Given the description of an element on the screen output the (x, y) to click on. 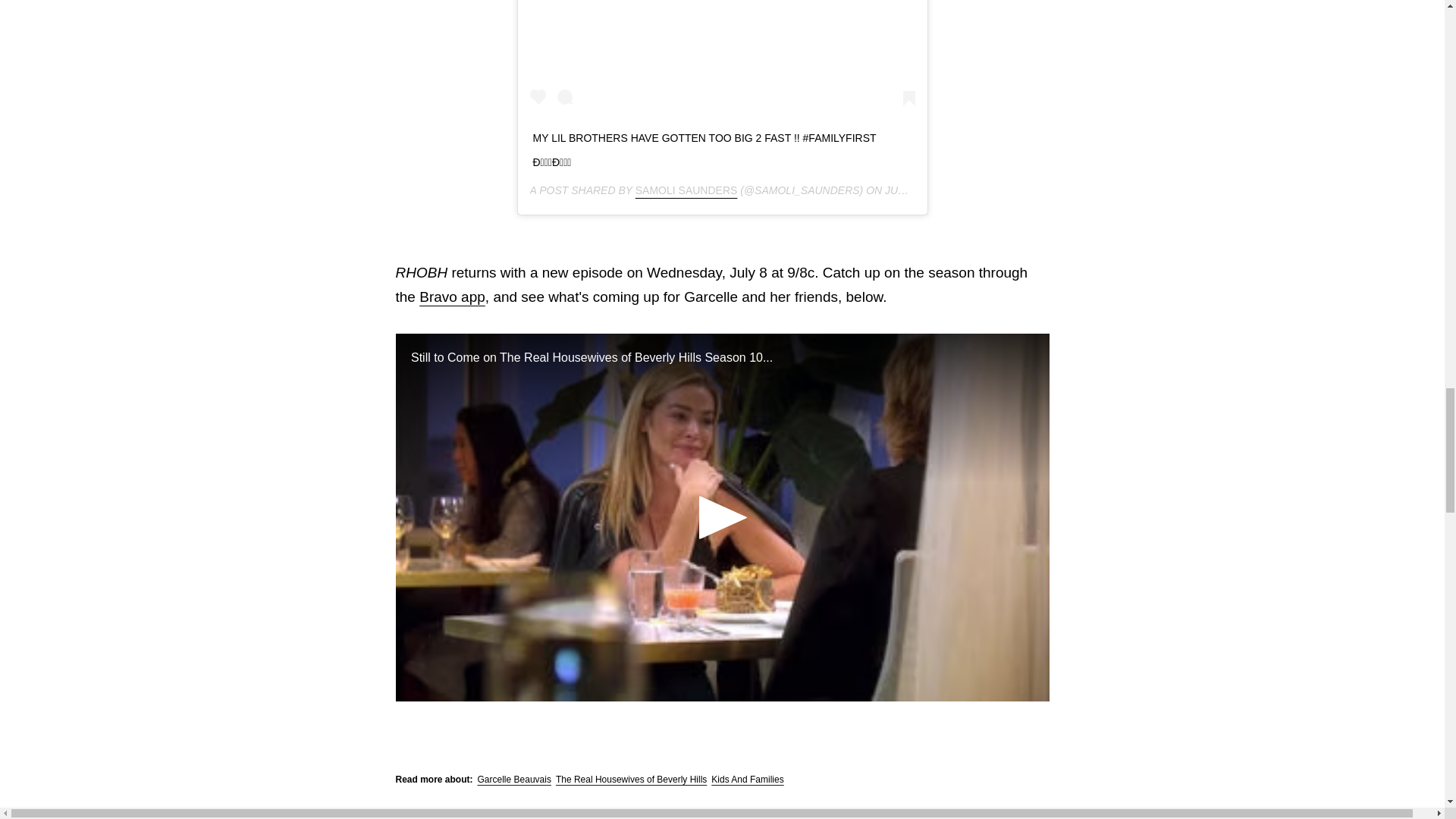
VIEW THIS POST ON INSTAGRAM (721, 56)
